Given the description of an element on the screen output the (x, y) to click on. 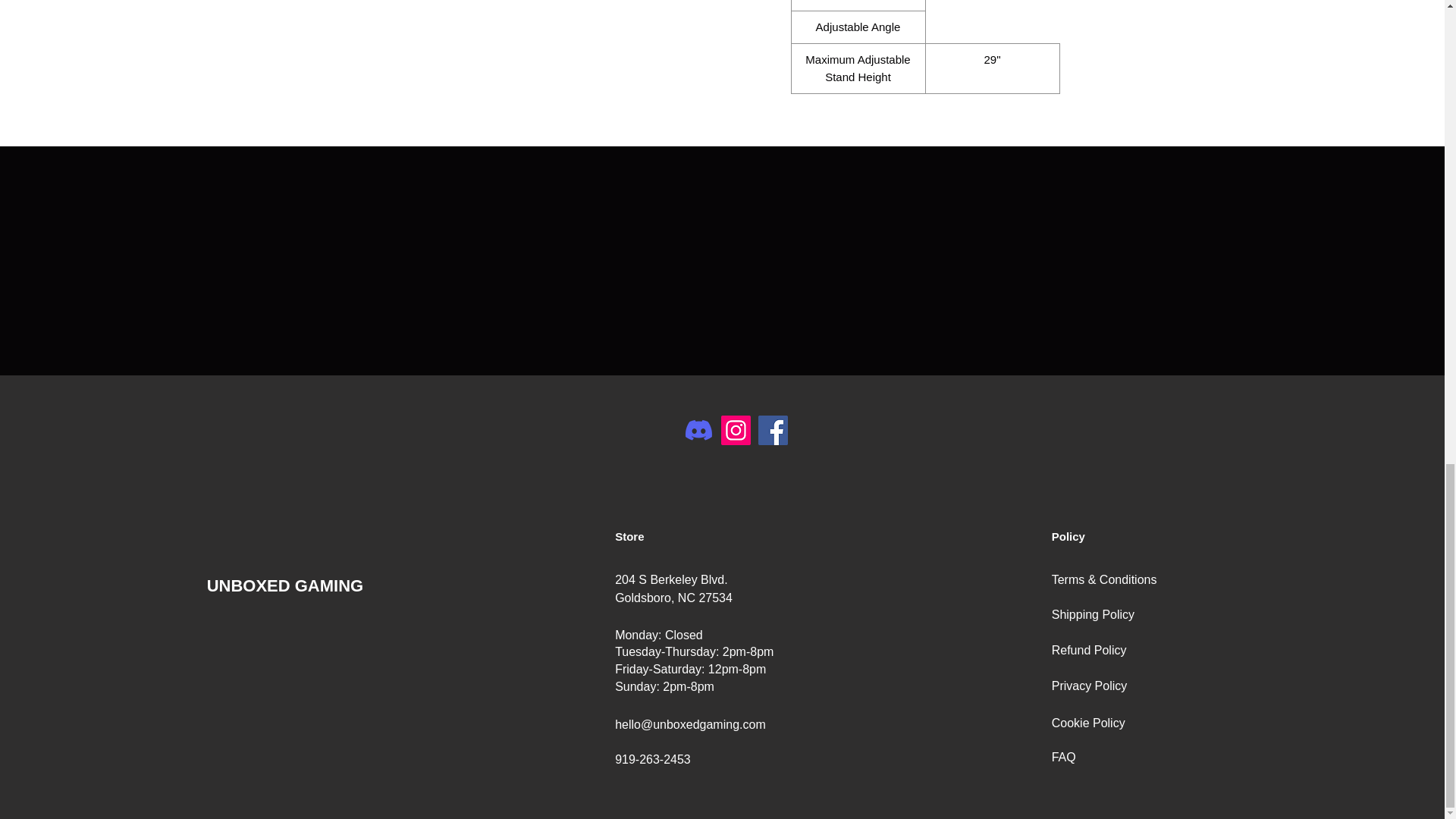
FAQ (1063, 757)
Privacy Policy (1088, 685)
Refund Policy (1088, 649)
Shipping Policy (1092, 614)
Cookie Policy (1088, 722)
UNBOXED GAMING (285, 585)
